Given the description of an element on the screen output the (x, y) to click on. 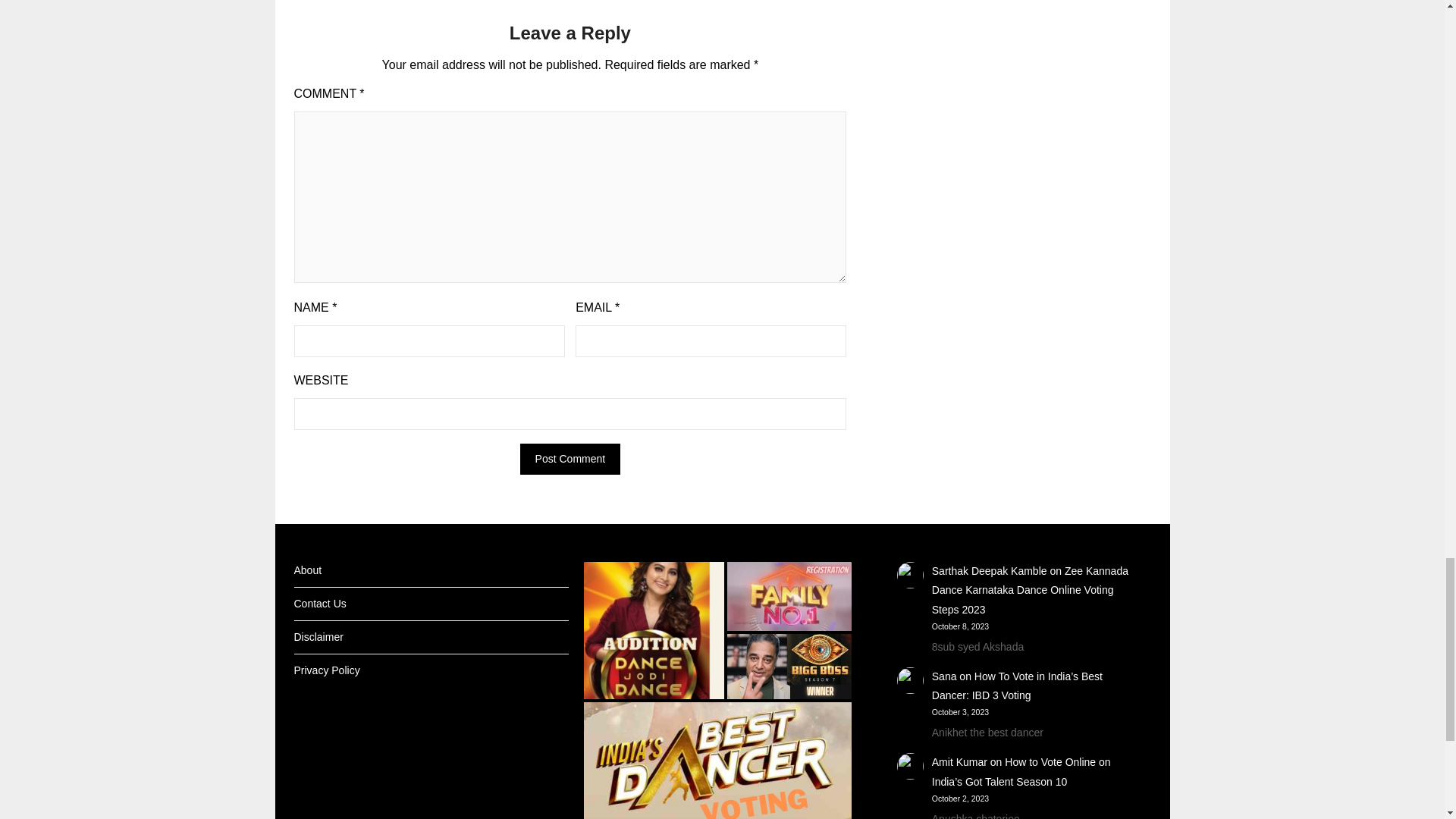
Post Comment (570, 459)
About (307, 570)
Post Comment (570, 459)
